Given the description of an element on the screen output the (x, y) to click on. 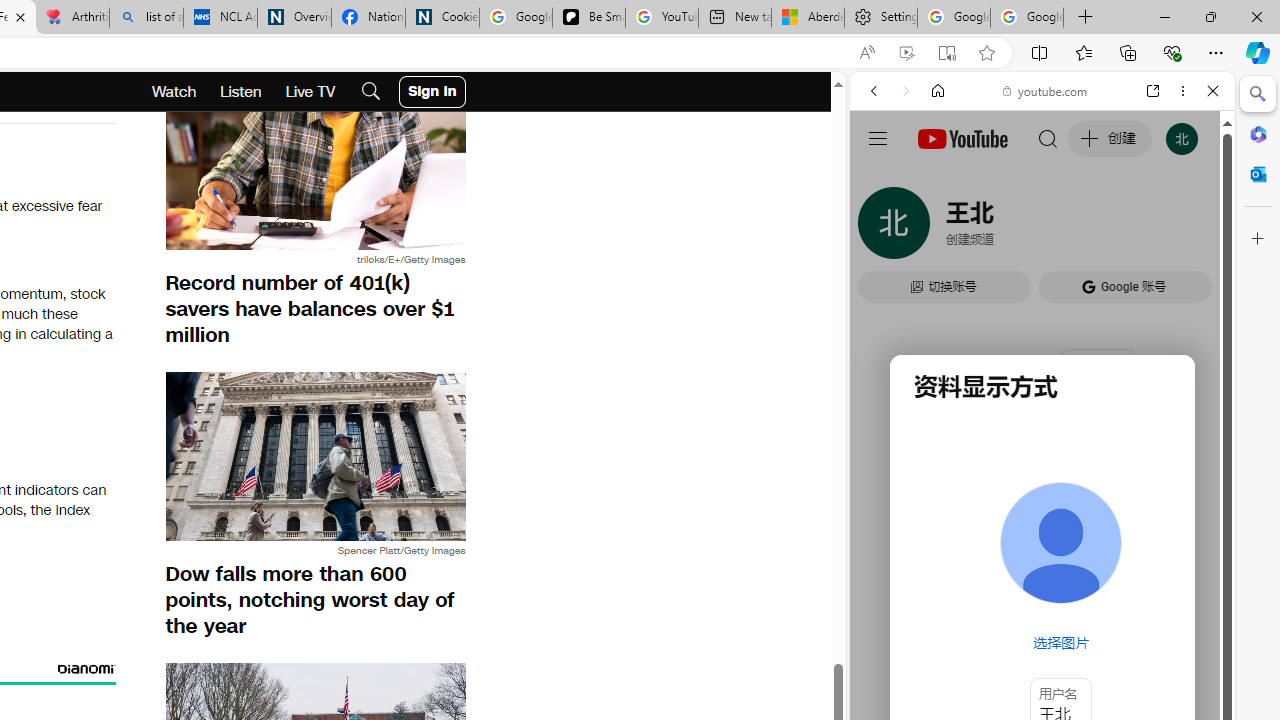
Search (1258, 94)
Watch (174, 92)
Close Outlook pane (1258, 174)
Music (1042, 543)
Google (947, 584)
Search Icon (371, 92)
VIDEOS (1006, 228)
list of asthma inhalers uk - Search (146, 17)
